Given the description of an element on the screen output the (x, y) to click on. 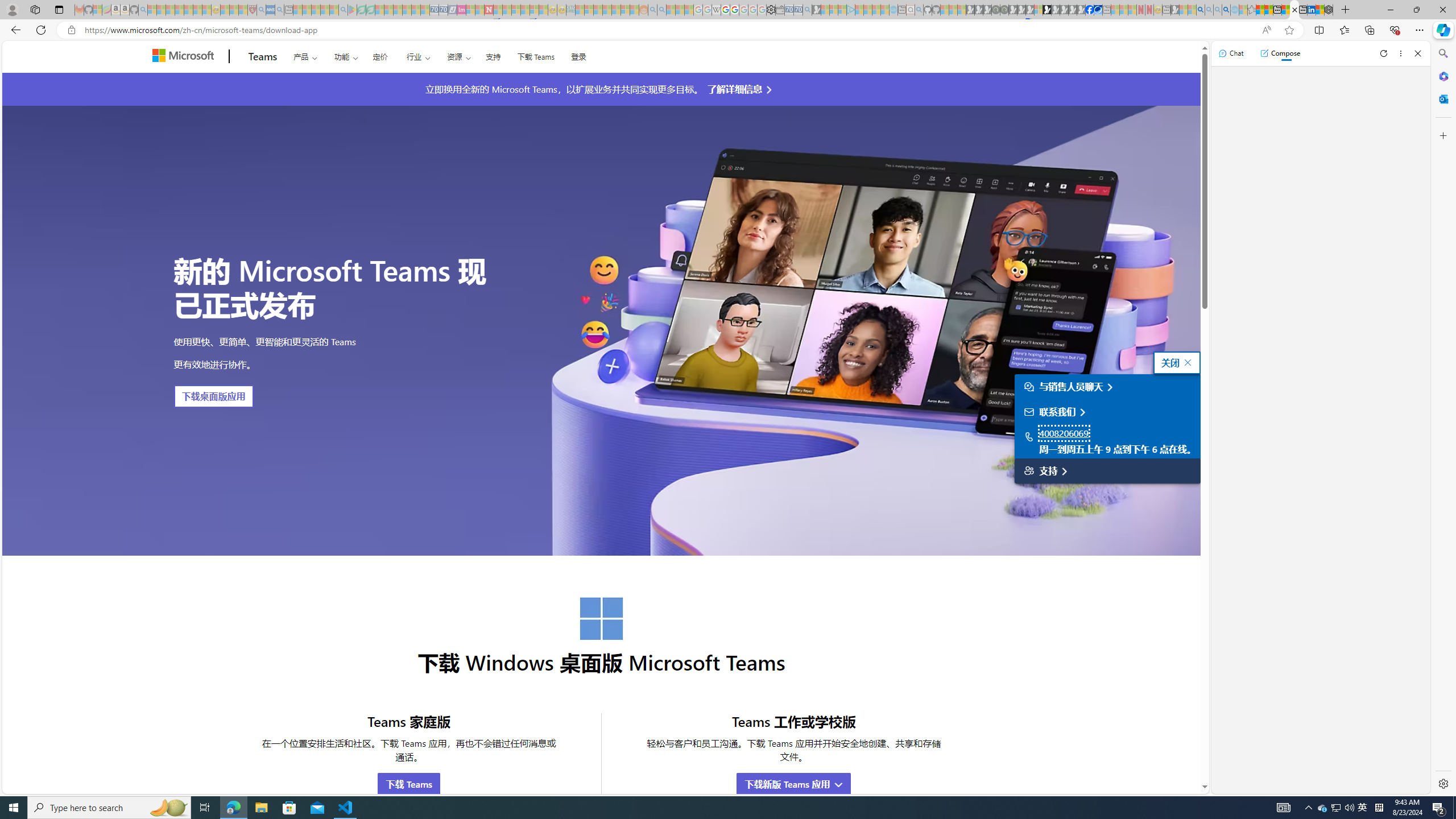
Microsoft Start Gaming - Sleeping (815, 9)
Chat (1230, 52)
Favorites - Sleeping (1251, 9)
Sign in to your account - Sleeping (1038, 9)
Bluey: Let's Play! - Apps on Google Play - Sleeping (352, 9)
Expert Portfolios - Sleeping (606, 9)
Wallet - Sleeping (779, 9)
